Given the description of an element on the screen output the (x, y) to click on. 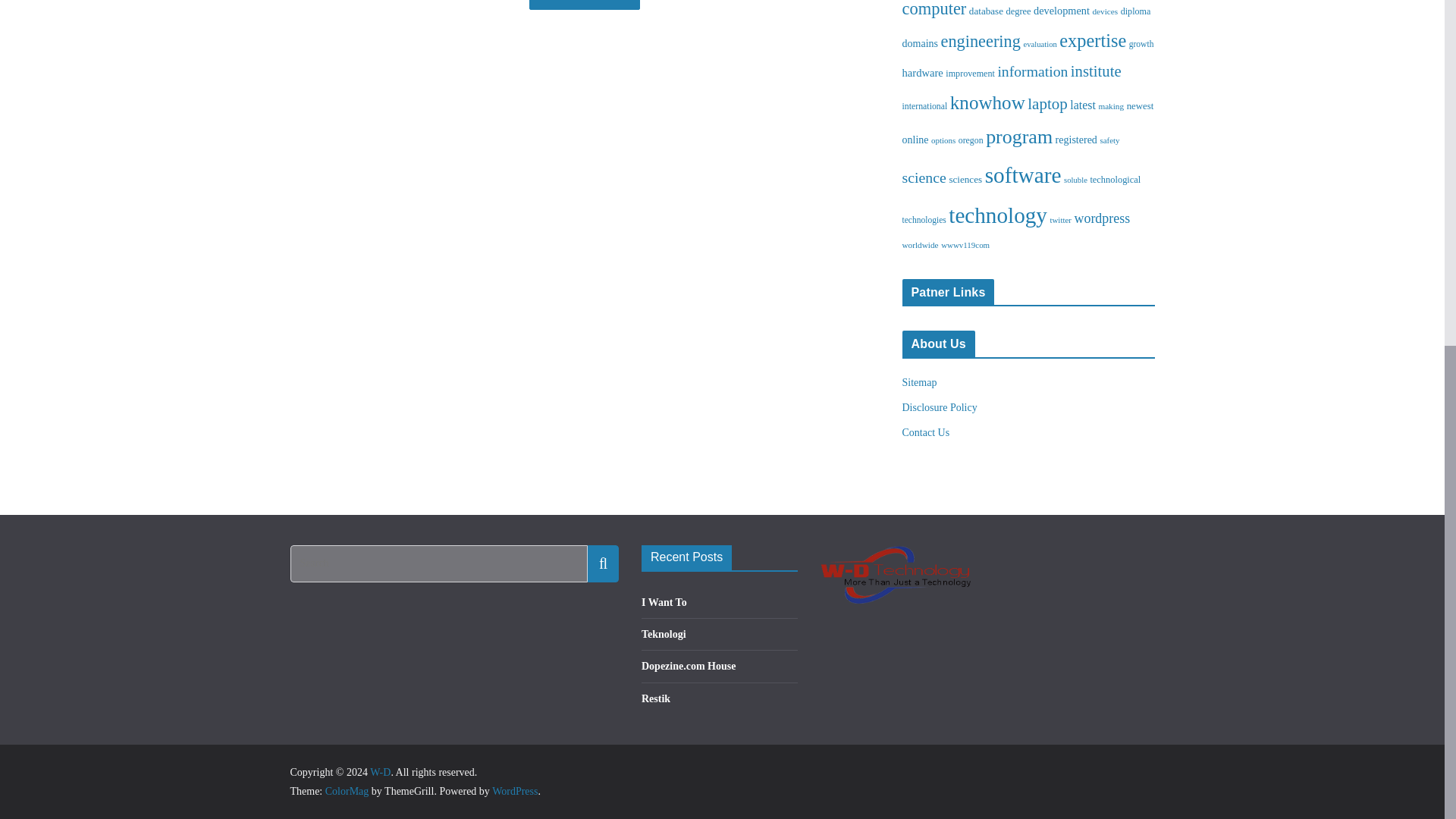
devices (1105, 10)
WordPress (514, 790)
expertise (1092, 40)
computer (934, 9)
evaluation (1040, 44)
W-D (379, 772)
engineering (980, 40)
database (986, 10)
ColorMag (346, 790)
Back to Home (584, 4)
growth (1141, 43)
diploma (1136, 10)
degree (1018, 10)
hardware (922, 72)
domains (920, 43)
